Given the description of an element on the screen output the (x, y) to click on. 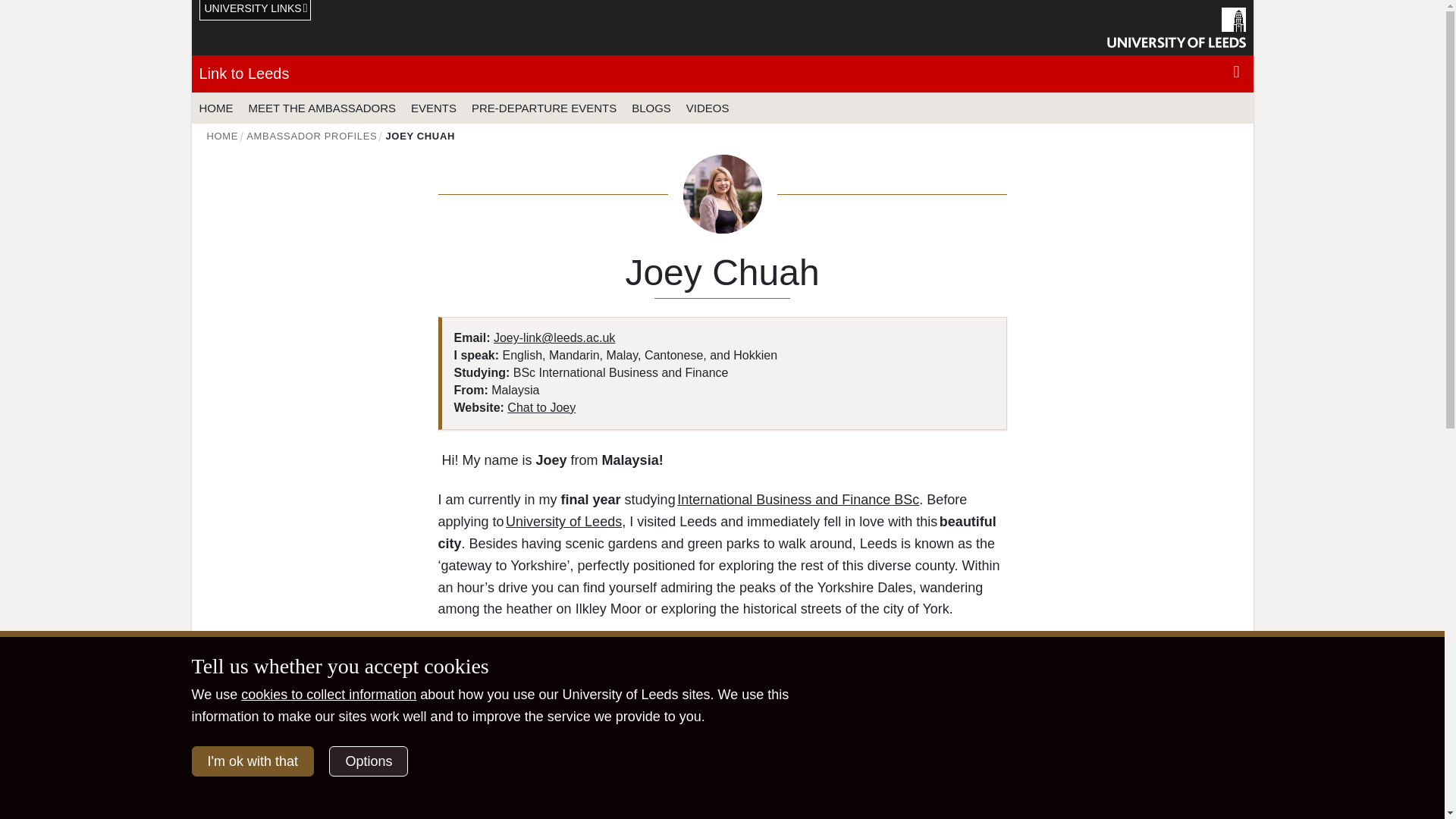
UNIVERSITY LINKS (254, 10)
Ambassador Profiles (311, 135)
Home (222, 135)
University of Leeds home page (1176, 26)
Link to Leeds (243, 73)
